Given the description of an element on the screen output the (x, y) to click on. 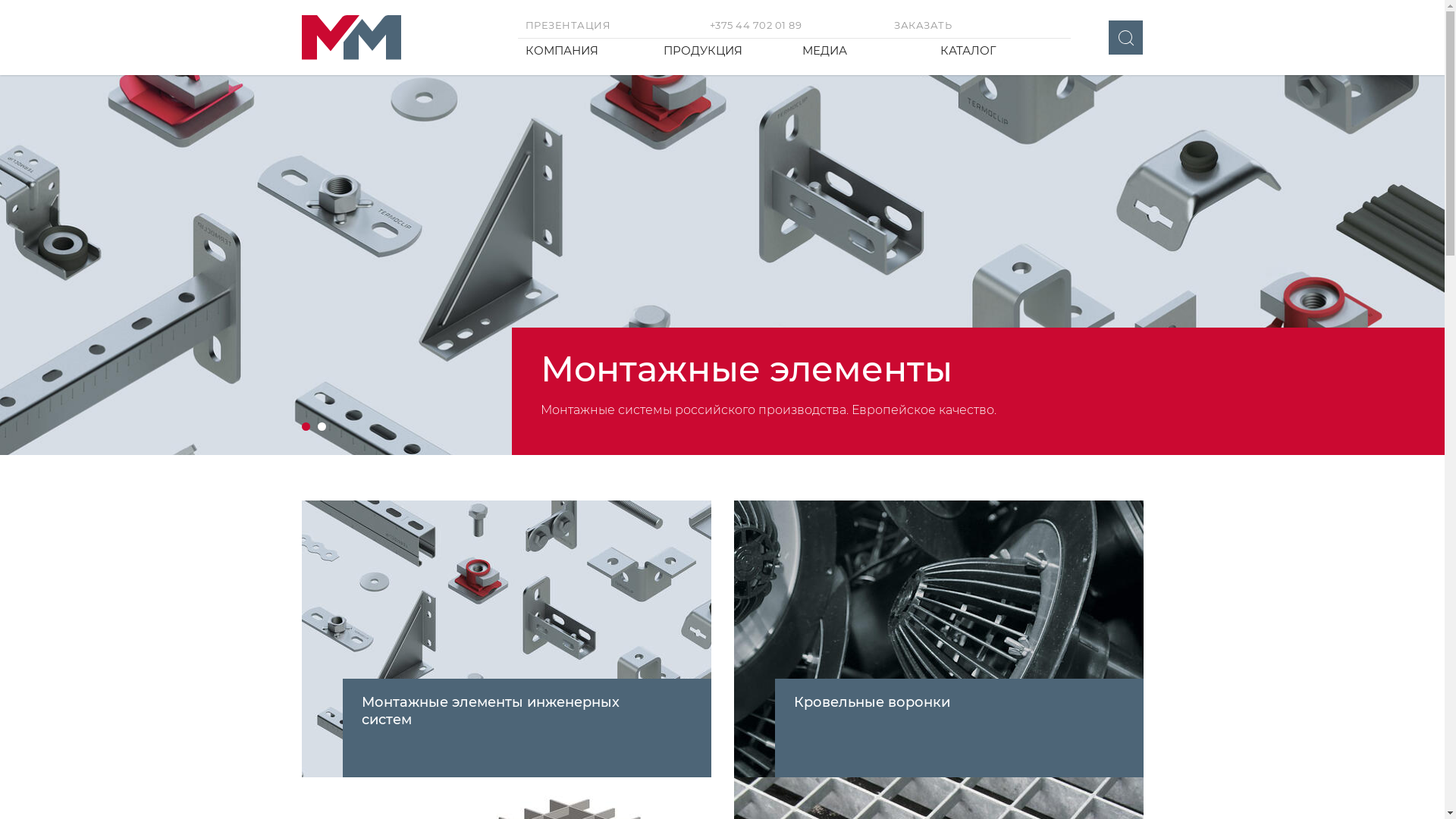
+375 44 702 01 89 Element type: text (794, 25)
2 Element type: text (320, 426)
1 Element type: text (305, 426)
